Given the description of an element on the screen output the (x, y) to click on. 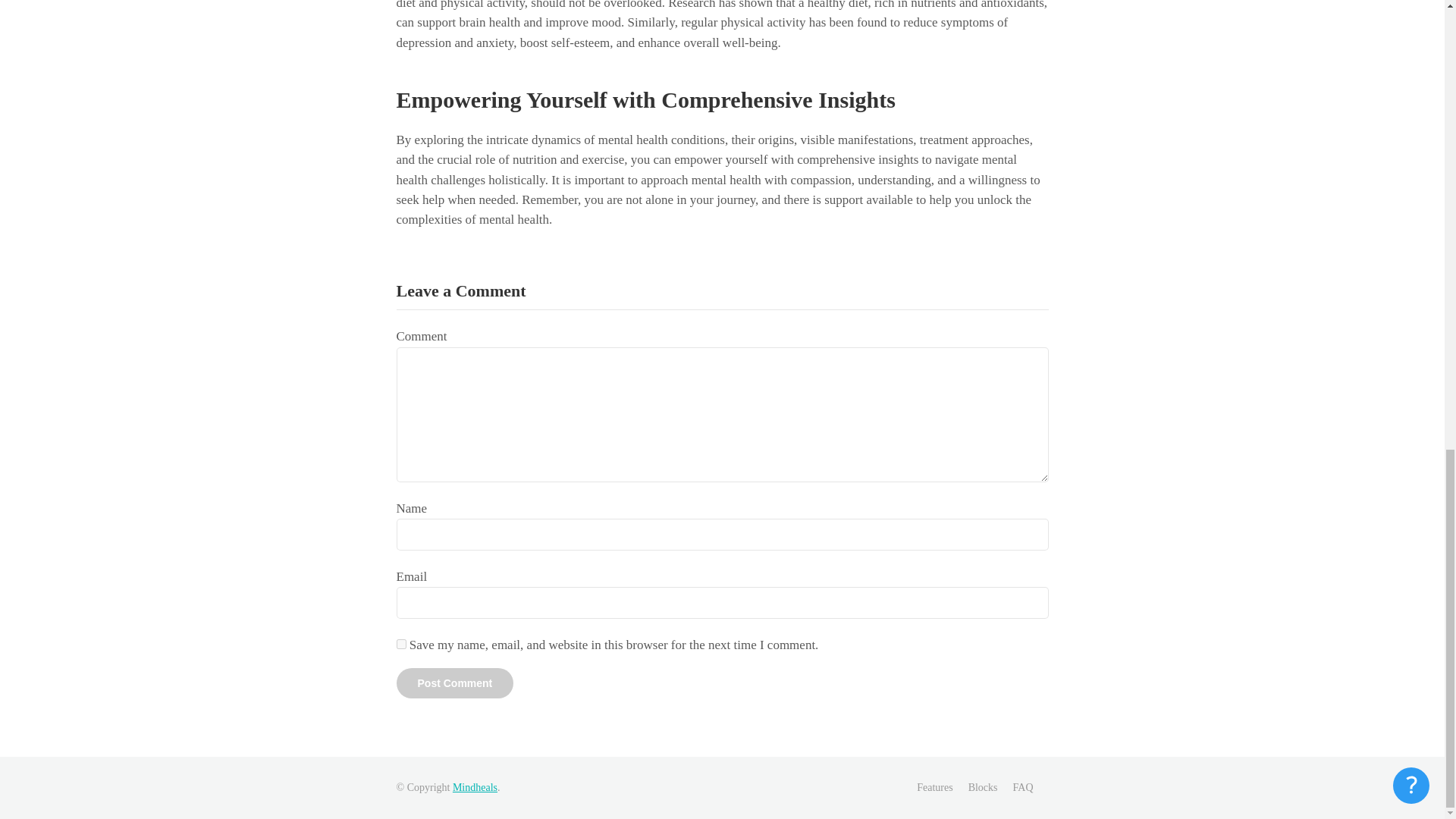
Post Comment (454, 683)
Mindheals (474, 787)
Features (934, 787)
yes (401, 644)
Post Comment (454, 683)
FAQ (1023, 787)
Blocks (982, 787)
